Given the description of an element on the screen output the (x, y) to click on. 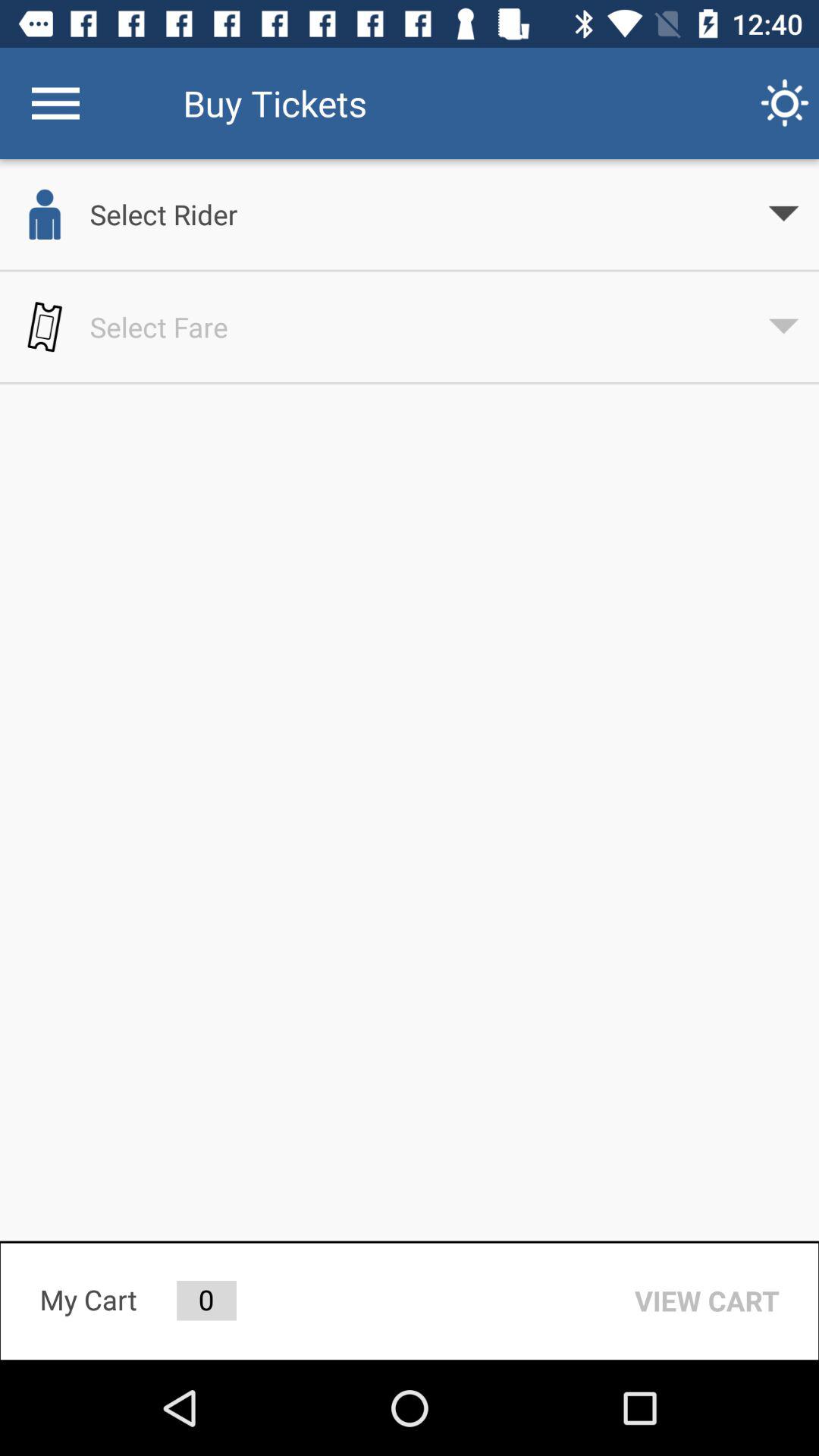
jump until the view cart icon (706, 1300)
